Given the description of an element on the screen output the (x, y) to click on. 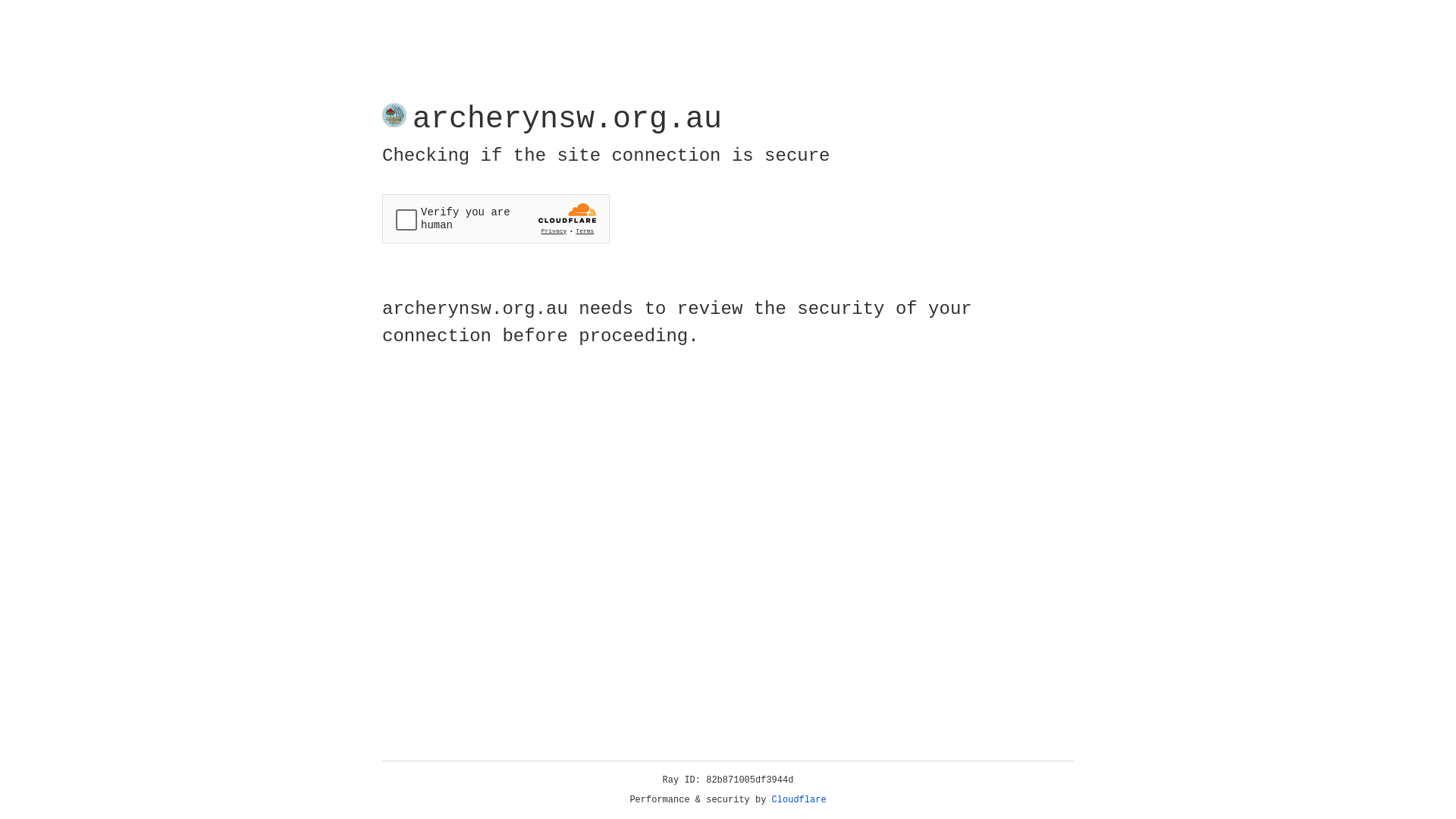
Widget containing a Cloudflare security challenge Element type: hover (495, 218)
Cloudflare Element type: text (798, 799)
